Given the description of an element on the screen output the (x, y) to click on. 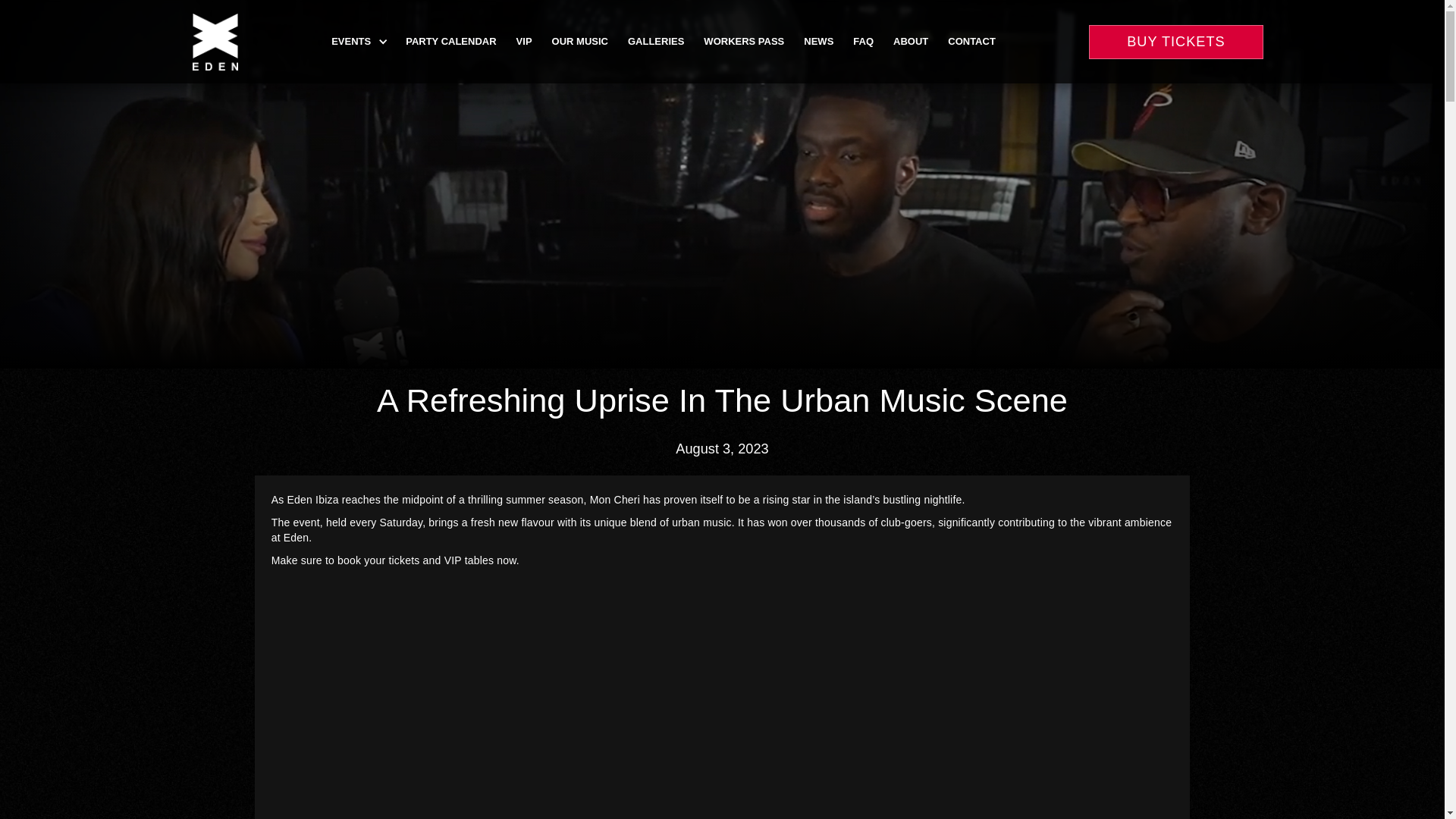
VIP (523, 41)
book your tickets and VIP tables (415, 560)
WORKERS PASS (743, 41)
BUY TICKETS (1176, 41)
FAQ (863, 41)
CONTACT (971, 41)
ABOUT (910, 41)
PARTY CALENDAR (450, 41)
OUR MUSIC (579, 41)
NEWS (818, 41)
GALLERIES (655, 41)
